Given the description of an element on the screen output the (x, y) to click on. 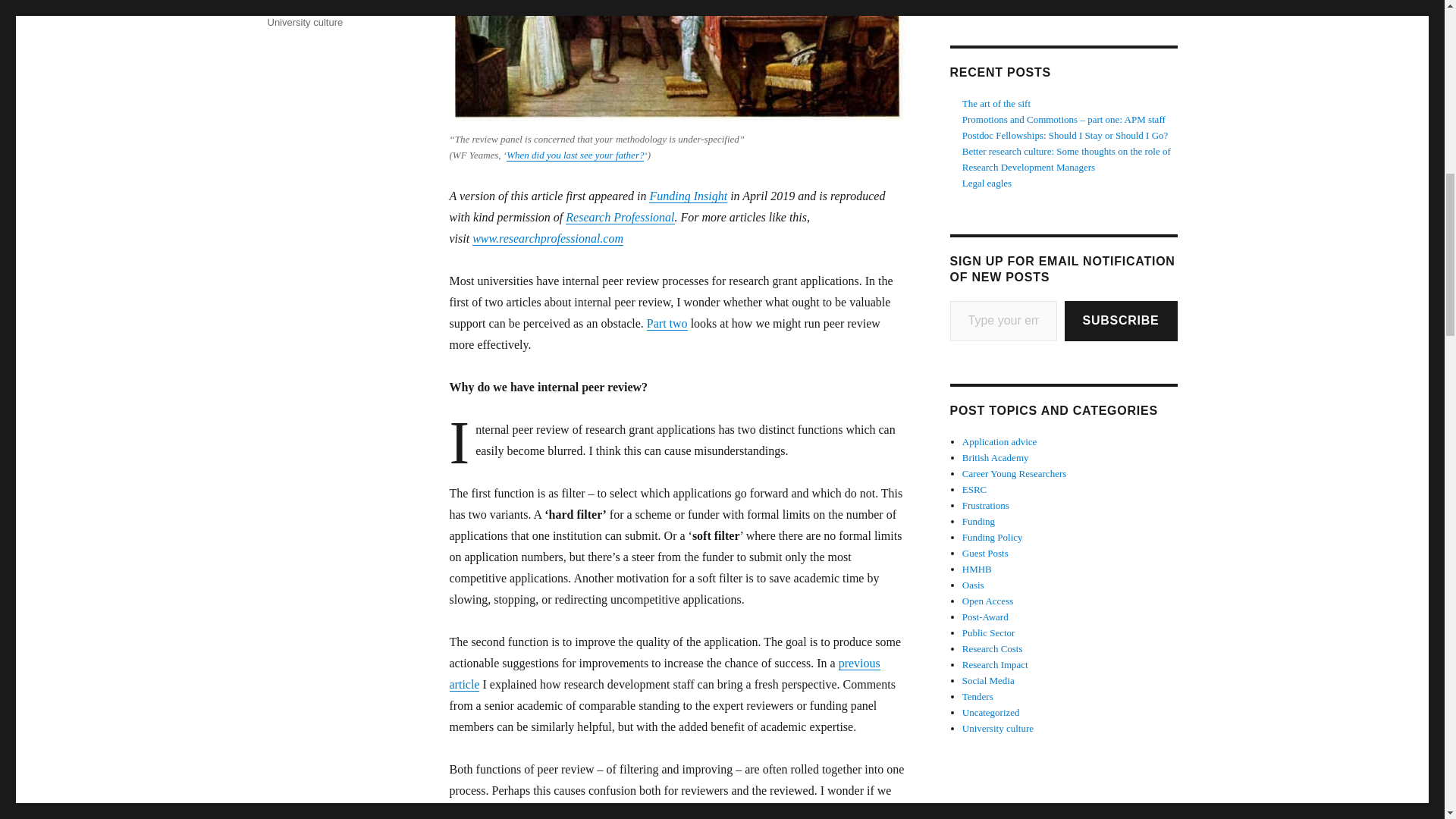
www.researchprofessional.com (547, 237)
University culture (304, 21)
previous article (663, 673)
Part two (666, 323)
Please fill in this field. (1003, 321)
Funding (341, 6)
Frustrations (292, 6)
Research Professional (620, 216)
Funding Insight (687, 195)
When did you last see your father? (574, 154)
